Given the description of an element on the screen output the (x, y) to click on. 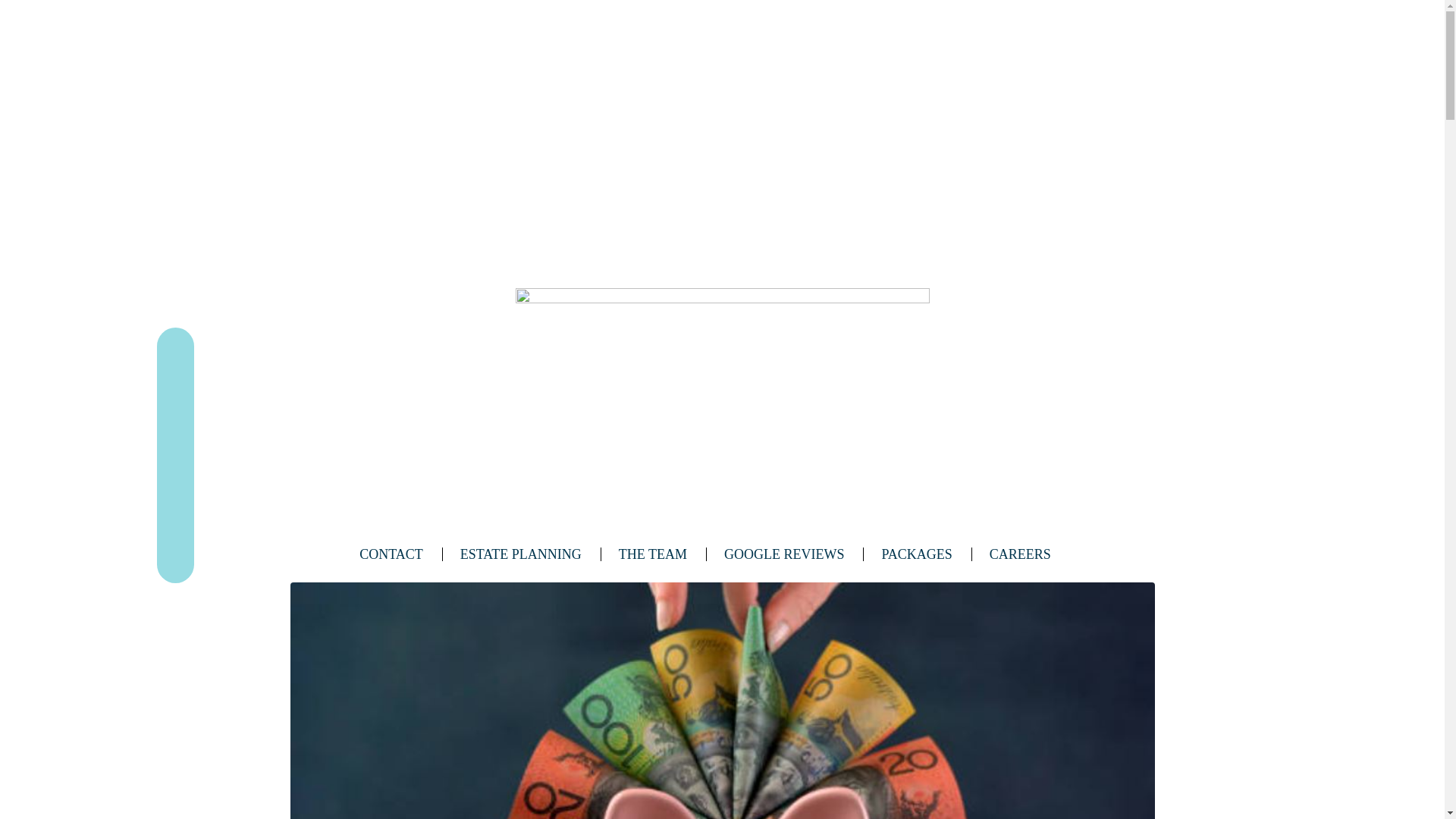
THE TEAM Element type: text (662, 554)
ESTATE PLANNING Element type: text (530, 554)
CONTACT Element type: text (400, 554)
PACKAGES Element type: text (926, 554)
CAREERS Element type: text (1029, 554)
GOOGLE REVIEWS Element type: text (793, 554)
